Given the description of an element on the screen output the (x, y) to click on. 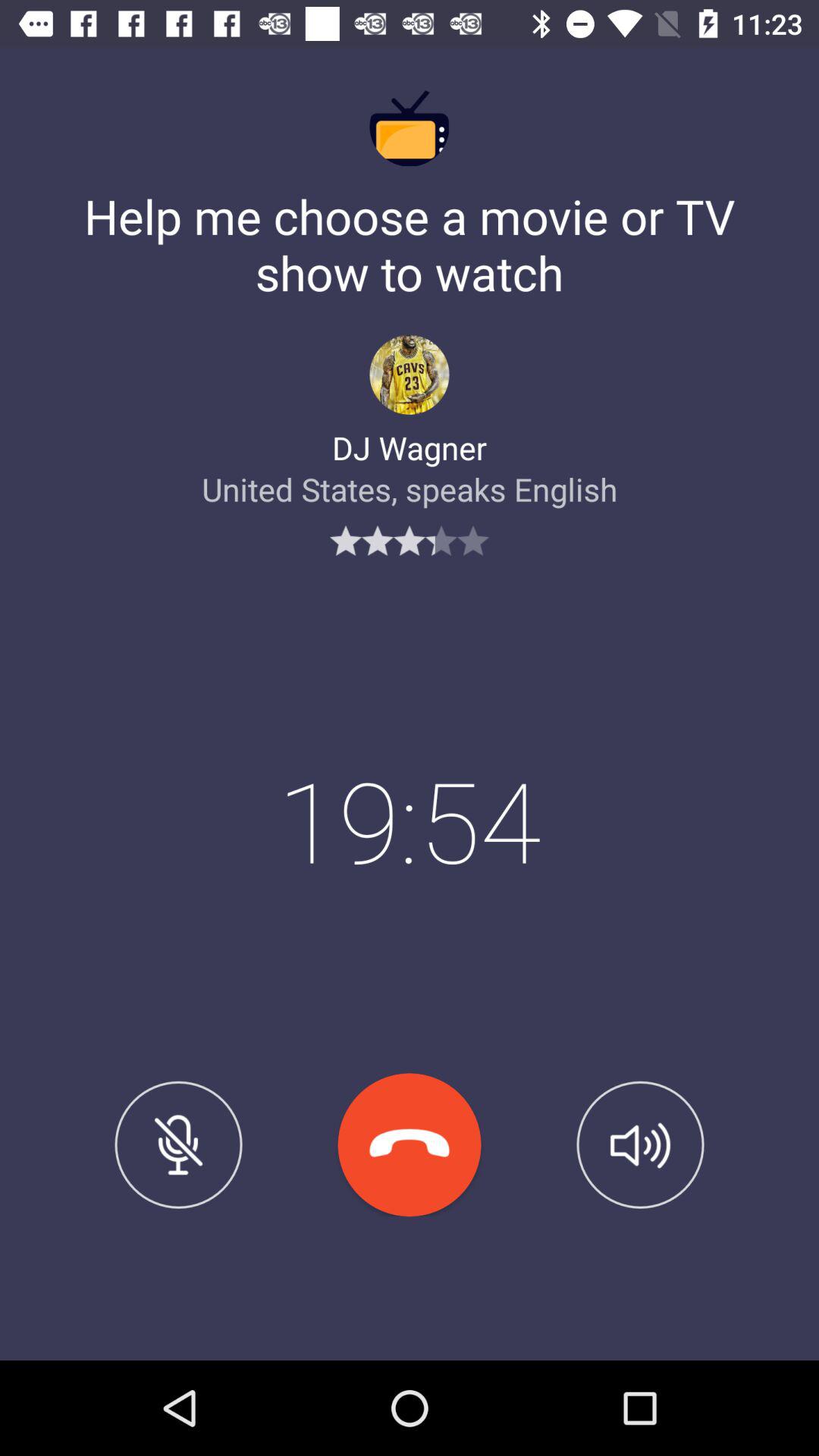
mute desmute (178, 1144)
